Given the description of an element on the screen output the (x, y) to click on. 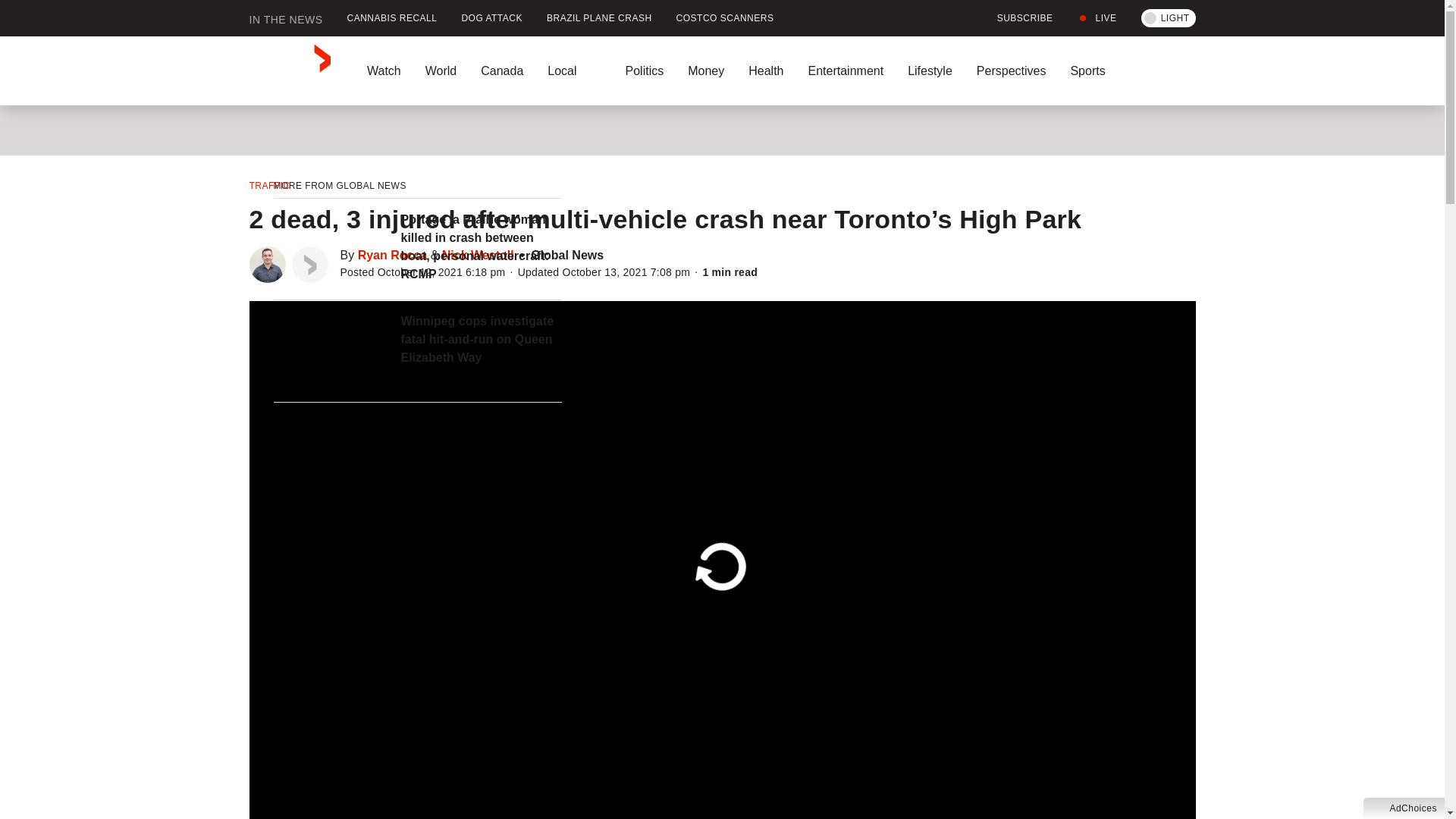
LIVE (1096, 18)
Posts by Ryan Rocca (393, 255)
GlobalNews home (289, 70)
Entertainment (844, 70)
Canada (501, 70)
BRAZIL PLANE CRASH (598, 18)
Perspectives (1010, 70)
COSTCO SCANNERS (724, 18)
